Given the description of an element on the screen output the (x, y) to click on. 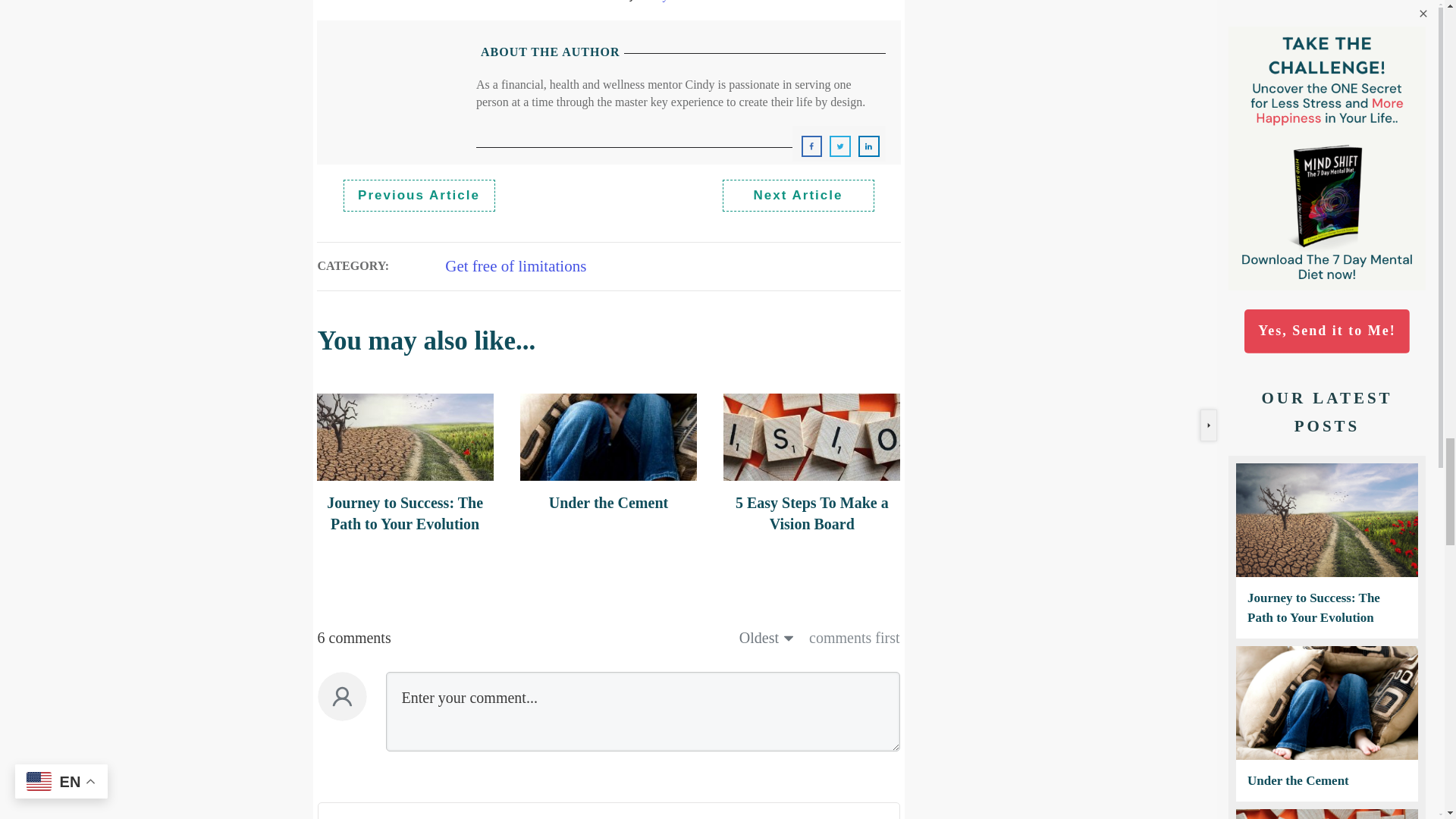
Previous Article (418, 195)
Under the Cement (608, 502)
Cindy Cheta (668, 0)
Get free of limitations (515, 266)
Journey to Success: The Path to Your Evolution (404, 513)
5 Easy Steps To Make a Vision Board (811, 513)
5 Easy Steps To Make a Vision Board (811, 513)
Under the Cement (608, 502)
Get free of limitations (515, 266)
Cindy Cheta (668, 0)
